Given the description of an element on the screen output the (x, y) to click on. 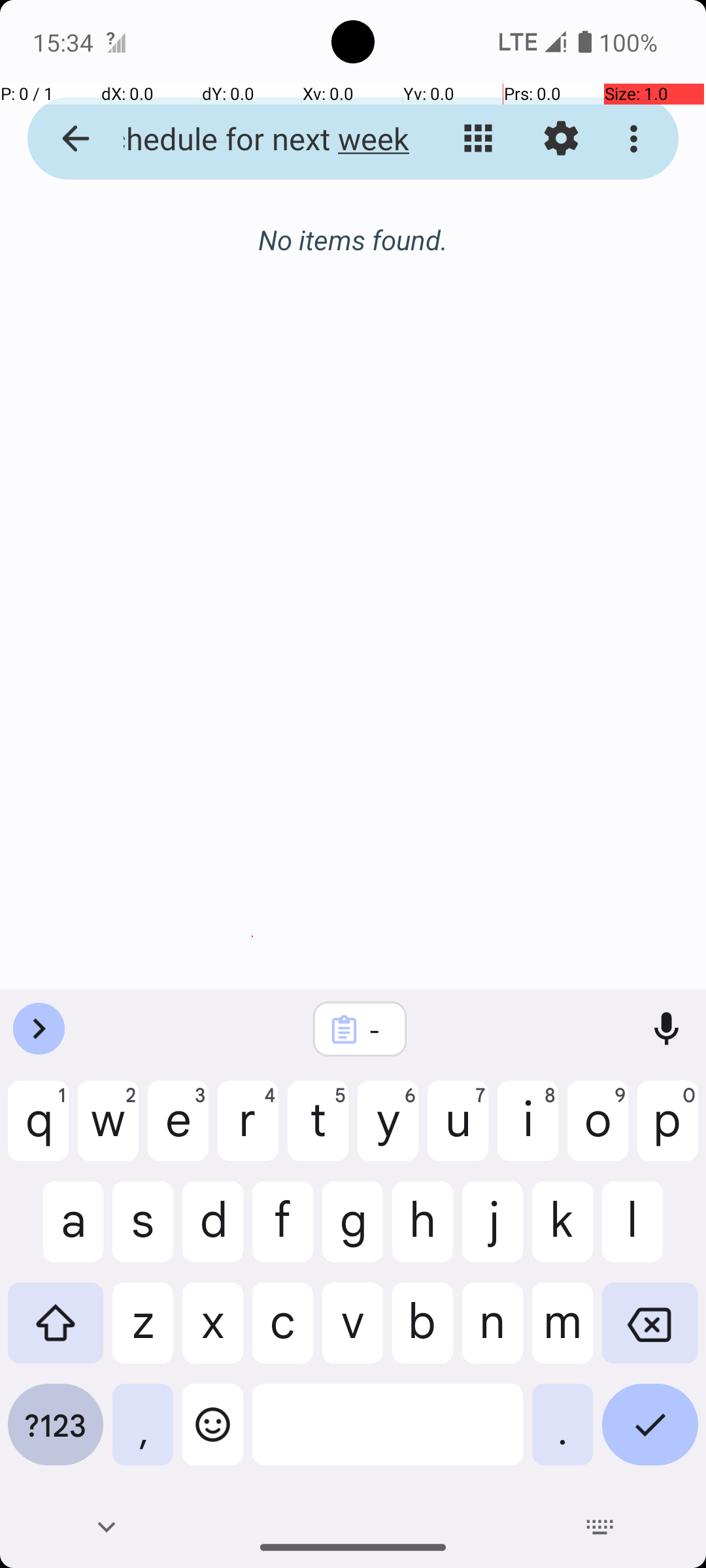
Meeting schedule for next week Element type: android.widget.EditText (252, 138)
